Given the description of an element on the screen output the (x, y) to click on. 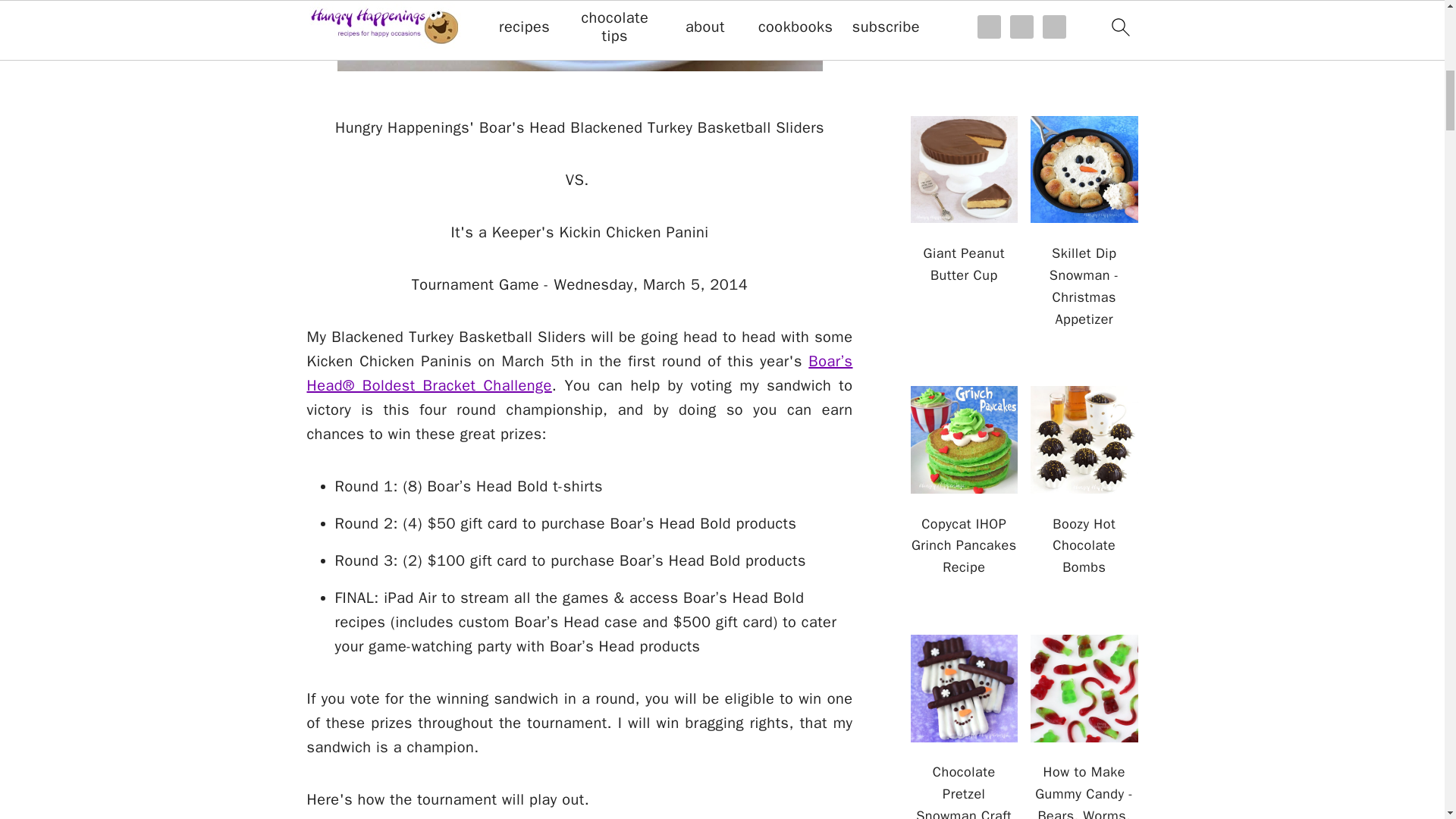
Turkey Basketball Sliders (579, 35)
